Given the description of an element on the screen output the (x, y) to click on. 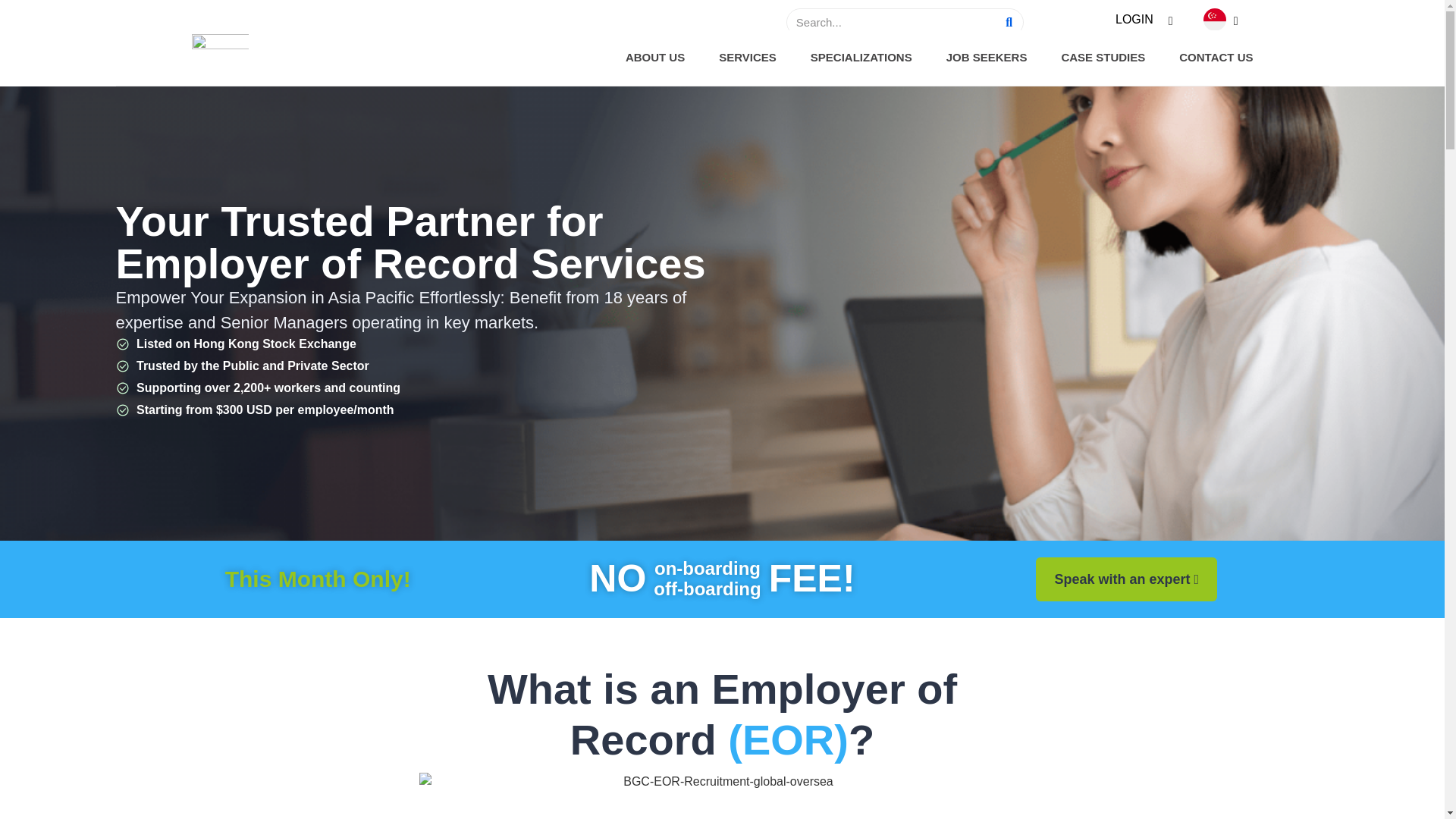
Search (891, 22)
SERVICES (747, 57)
JOB SEEKERS (986, 57)
Search (1008, 22)
ABOUT US (655, 57)
SPECIALIZATIONS (861, 57)
LOGIN (1140, 19)
